Given the description of an element on the screen output the (x, y) to click on. 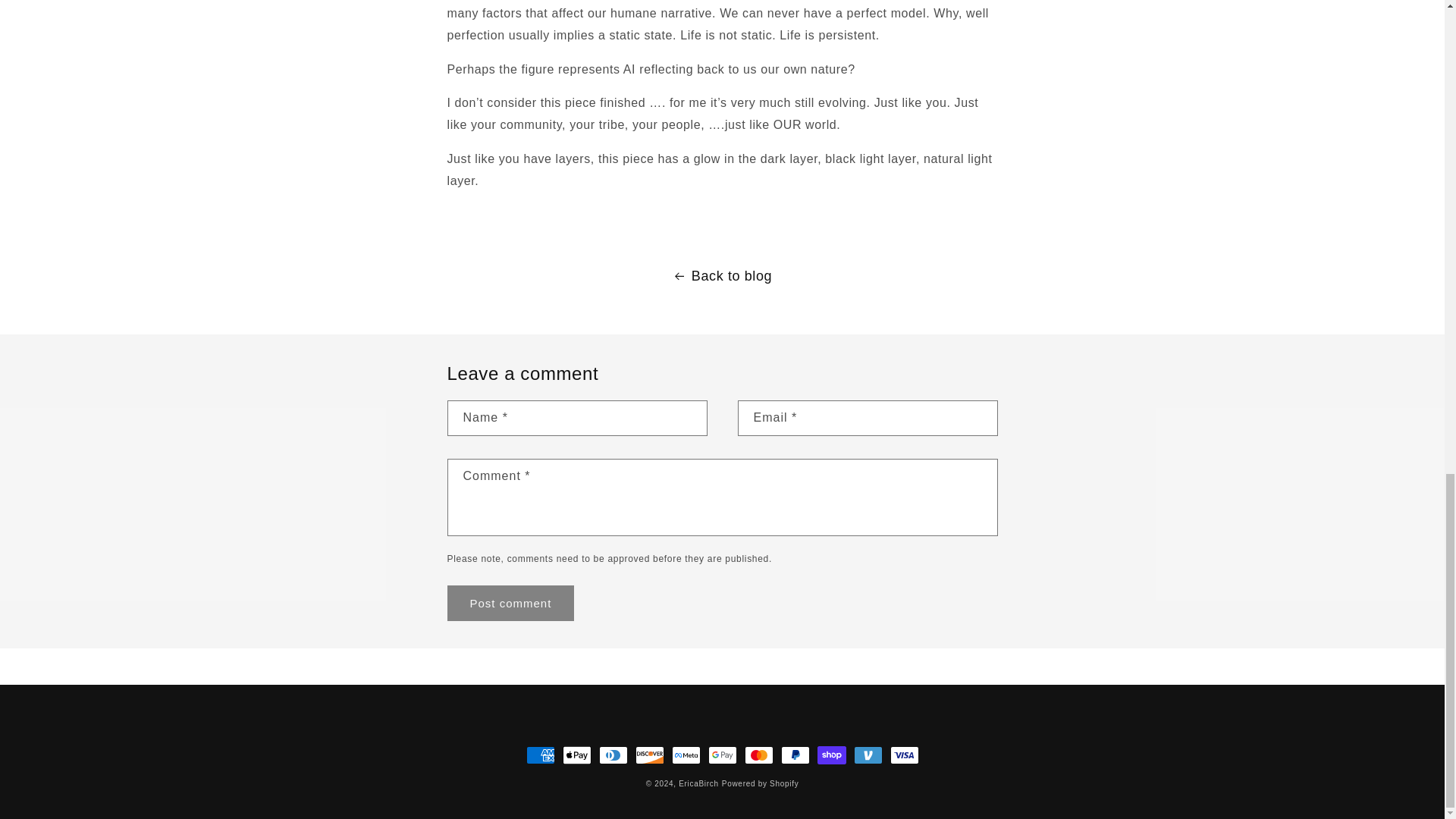
Powered by Shopify (760, 783)
Post comment (510, 602)
EricaBirch (698, 783)
Post comment (510, 602)
